Given the description of an element on the screen output the (x, y) to click on. 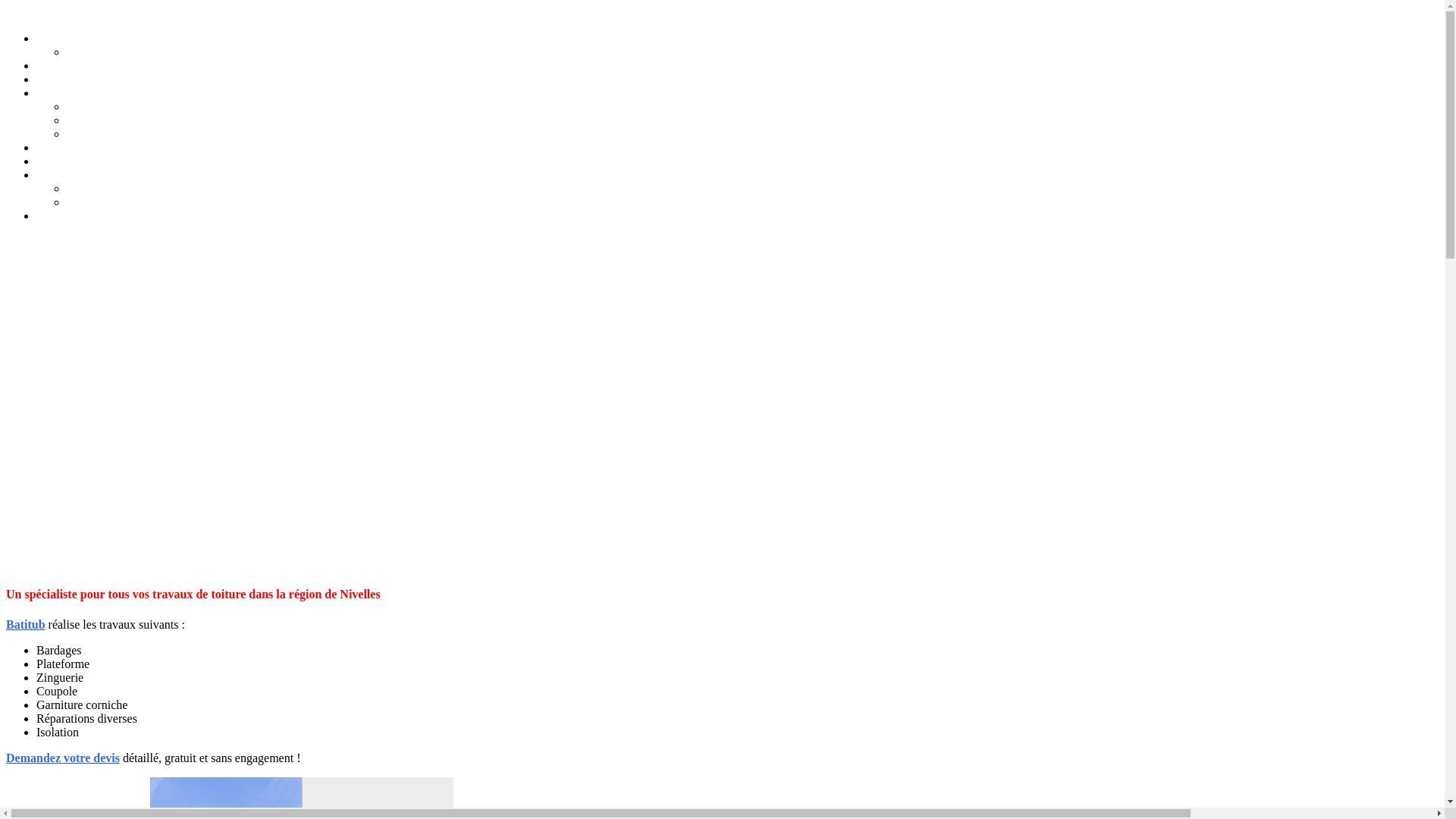
Batitub Element type: text (25, 624)
Toiture Element type: text (52, 147)
Tubage rigide Element type: text (97, 120)
ACCUEIL Element type: text (60, 38)
Contact Element type: text (54, 216)
Tubage industriel Element type: text (106, 134)
Ramonage Element type: text (60, 65)
TARIFS Element type: text (55, 175)
TUBAGE Element type: text (59, 93)
Tubage flexible Element type: text (102, 106)
Demandez votre devis Element type: text (62, 757)
